Given the description of an element on the screen output the (x, y) to click on. 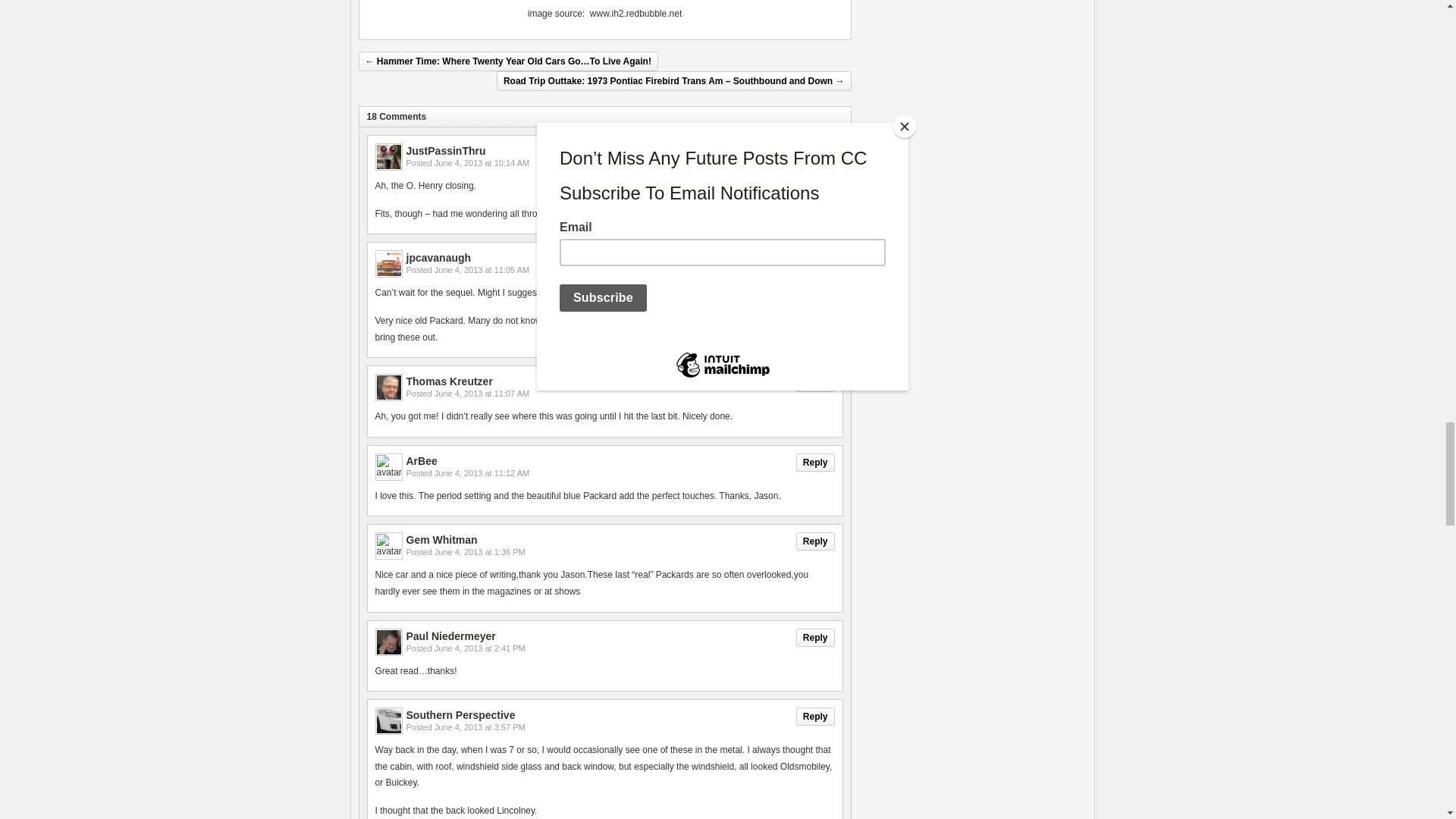
2013-06-04T11:07:02-07:00 (481, 393)
2013-06-04T11:05:53-07:00 (481, 269)
2013-06-04T10:14:07-07:00 (481, 162)
2013-06-04T14:41:39-07:00 (479, 647)
2013-06-04T11:12:18-07:00 (481, 472)
2013-06-04T15:57:35-07:00 (479, 727)
2013-06-04T13:36:06-07:00 (479, 551)
